Given the description of an element on the screen output the (x, y) to click on. 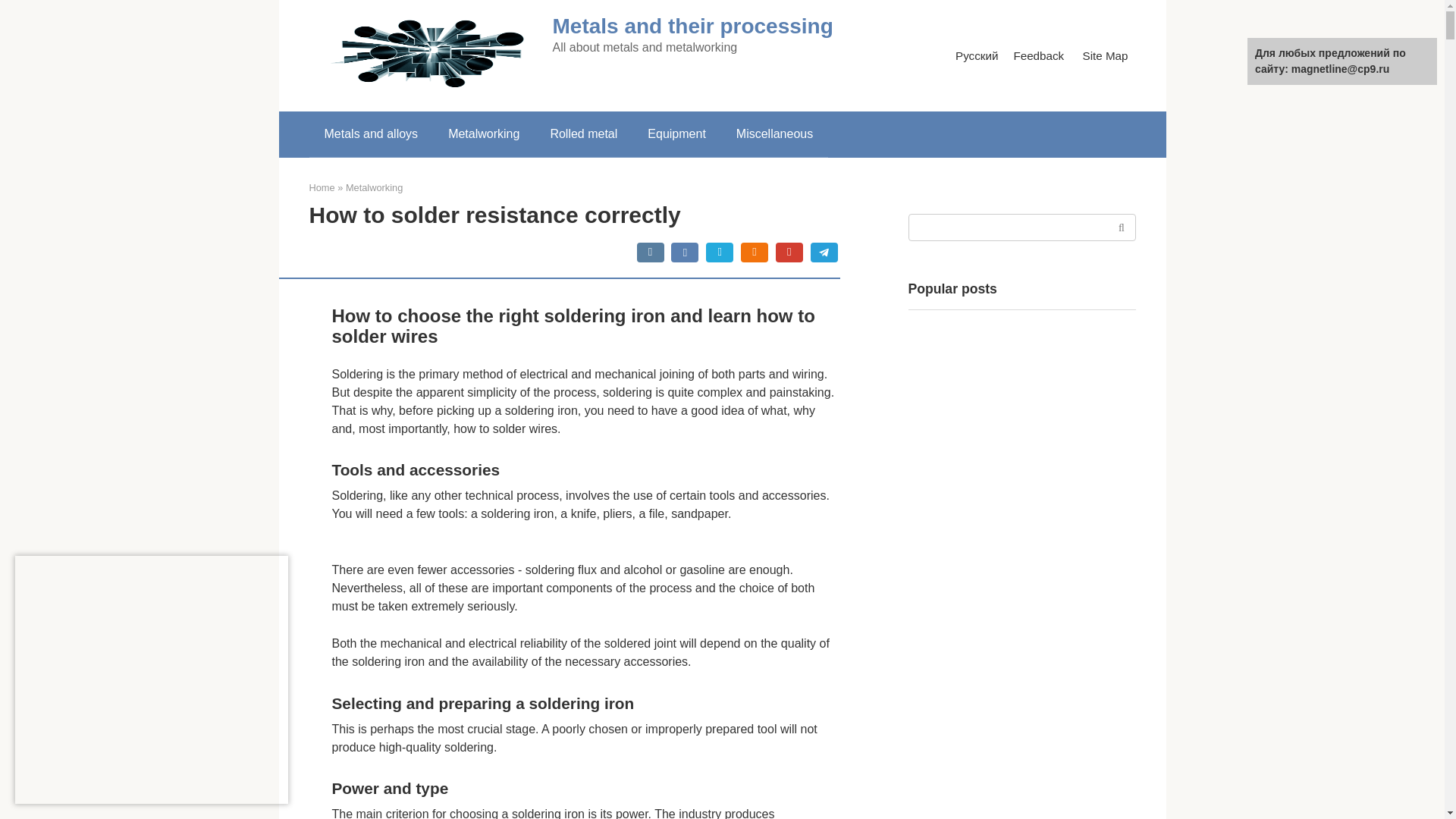
Metals and alloys (370, 134)
Feedback (1038, 55)
Metals and their processing (691, 25)
Home (321, 187)
Metalworking (374, 187)
Rolled metal (582, 134)
Miscellaneous (774, 134)
Metalworking (483, 134)
Site Map (1105, 55)
Equipment (675, 134)
